Given the description of an element on the screen output the (x, y) to click on. 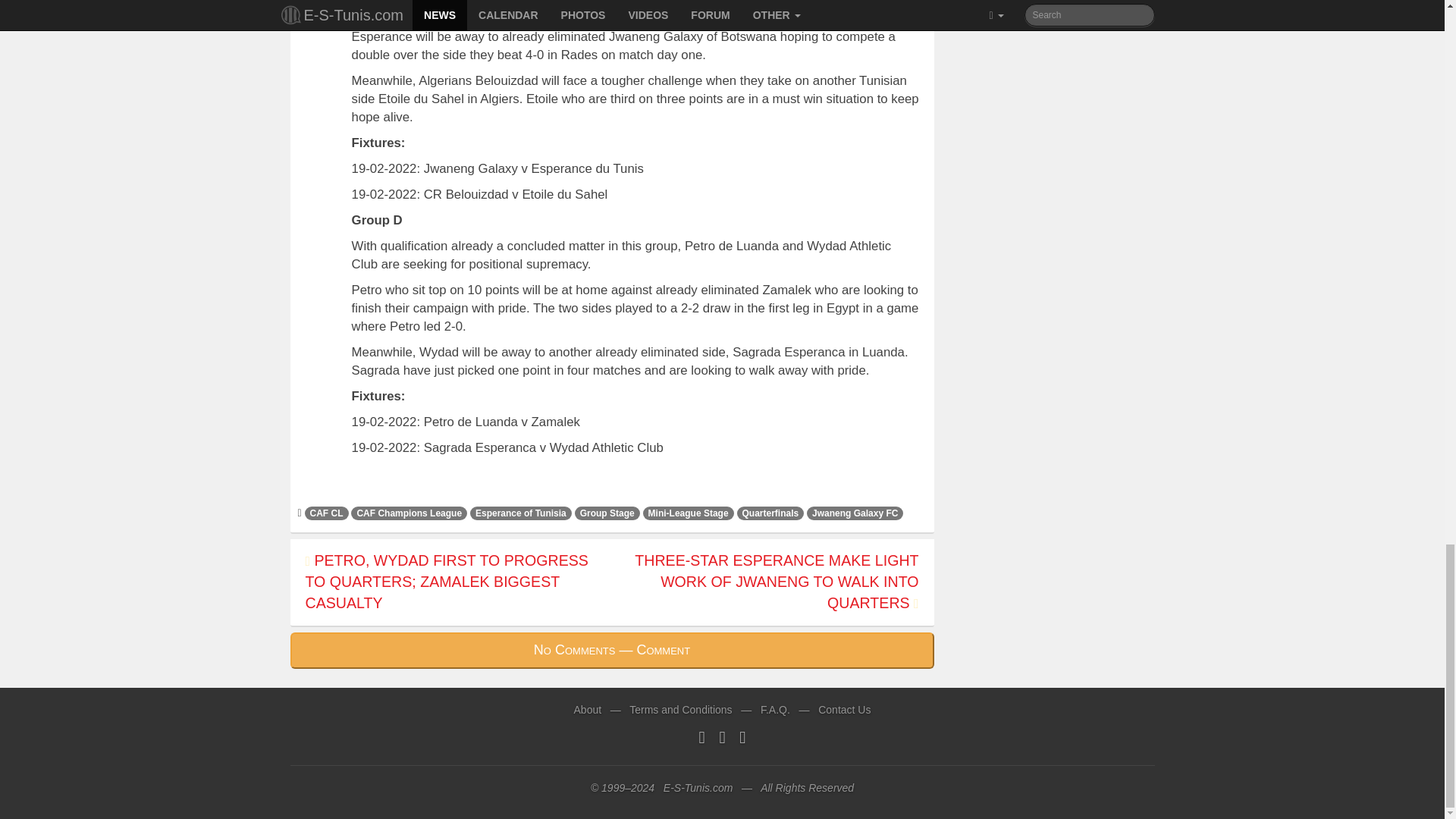
CAF CL (326, 512)
Esperance of Tunisia (521, 512)
Jwaneng Galaxy FC (854, 512)
CAF Champions League (408, 512)
Mini-League Stage (688, 512)
Group Stage (607, 512)
Quarterfinals (770, 512)
